Given the description of an element on the screen output the (x, y) to click on. 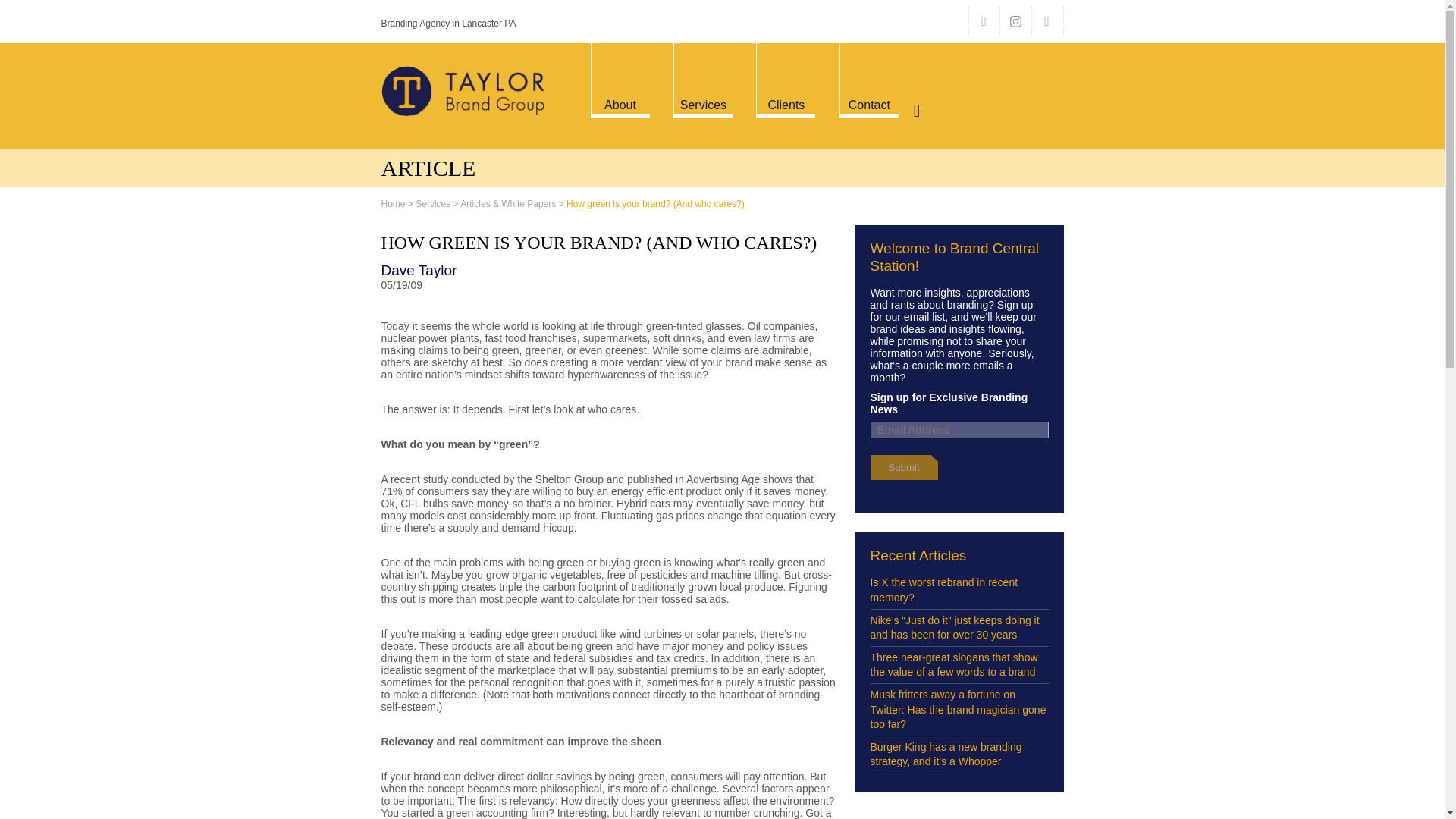
Services (431, 204)
Is X the worst rebrand in recent memory? (959, 590)
Instagram (1013, 20)
About (620, 105)
LinkedIn (1045, 20)
Submit (900, 467)
Clients (786, 105)
Taylor Brand Group (463, 91)
